Given the description of an element on the screen output the (x, y) to click on. 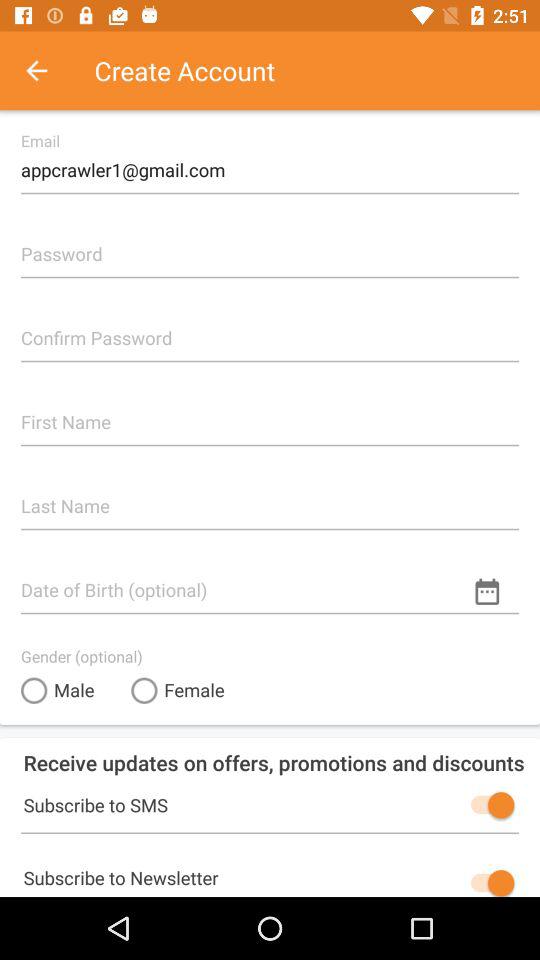
open the icon above the appcrawler1@gmail.com item (47, 70)
